Given the description of an element on the screen output the (x, y) to click on. 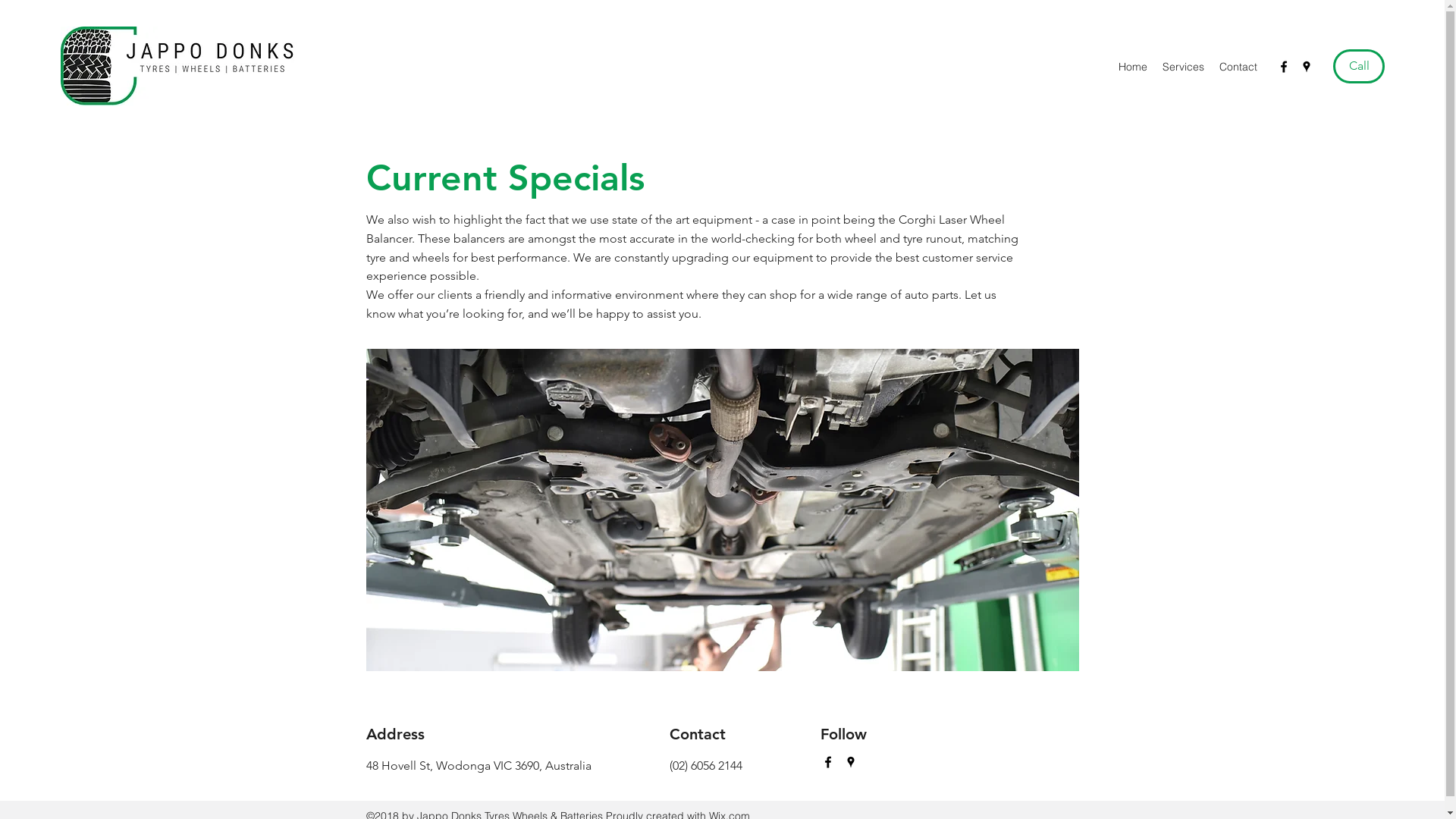
Services Element type: text (1182, 66)
Contact Element type: text (1237, 66)
Home Element type: text (1132, 66)
Call Element type: text (1358, 66)
